Given the description of an element on the screen output the (x, y) to click on. 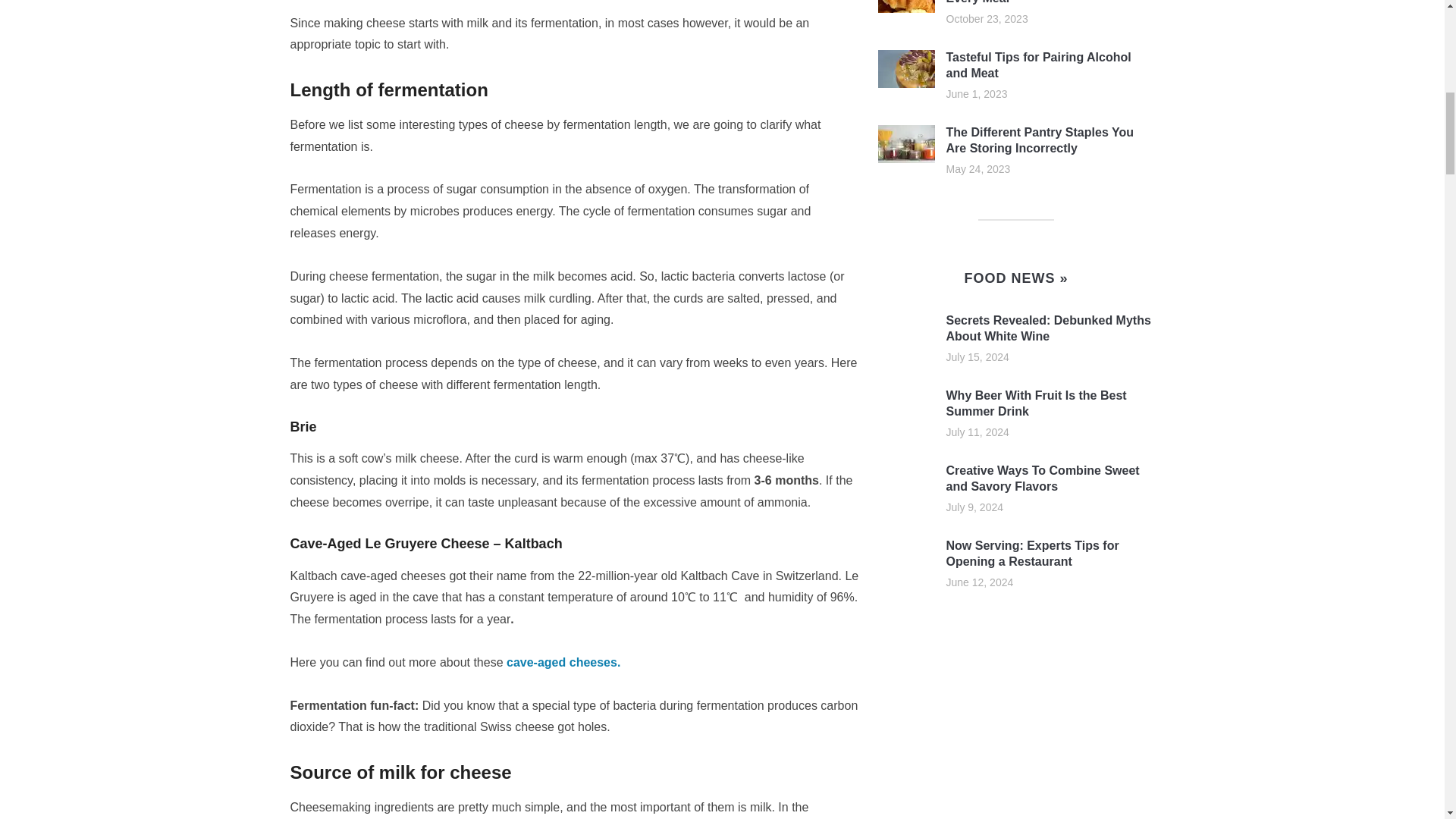
cave-aged cheeses. (563, 662)
